Given the description of an element on the screen output the (x, y) to click on. 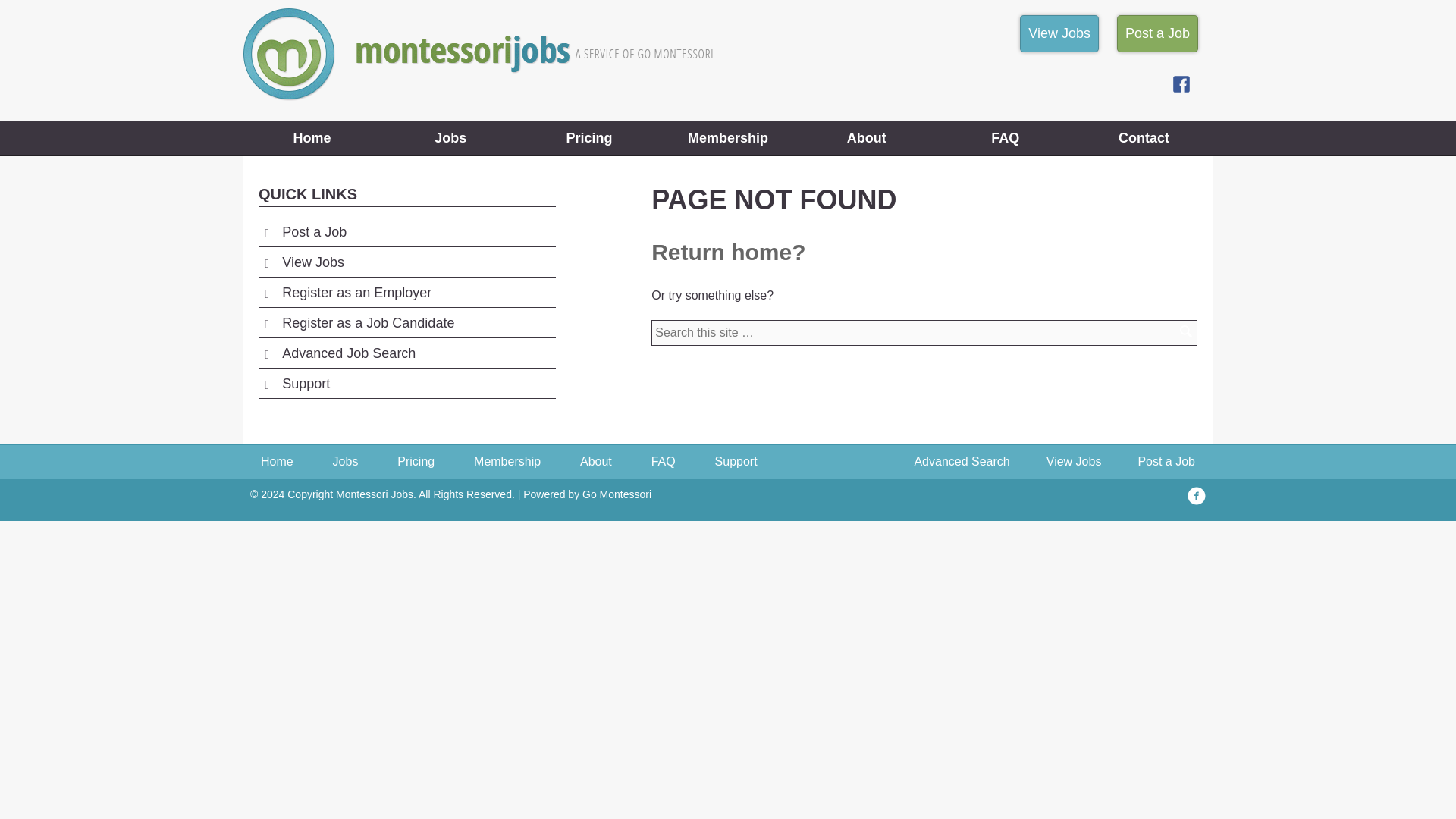
Pricing (415, 461)
Facebook (1196, 495)
Contact (1143, 138)
View Jobs (1058, 33)
Home (312, 138)
Post a Job (1165, 461)
Jobs (450, 138)
Register as an Employer (356, 294)
Support (306, 385)
Membership (728, 138)
Advanced Search (961, 461)
Membership (507, 461)
Support (736, 461)
Pricing (589, 138)
Search for: (923, 332)
